Given the description of an element on the screen output the (x, y) to click on. 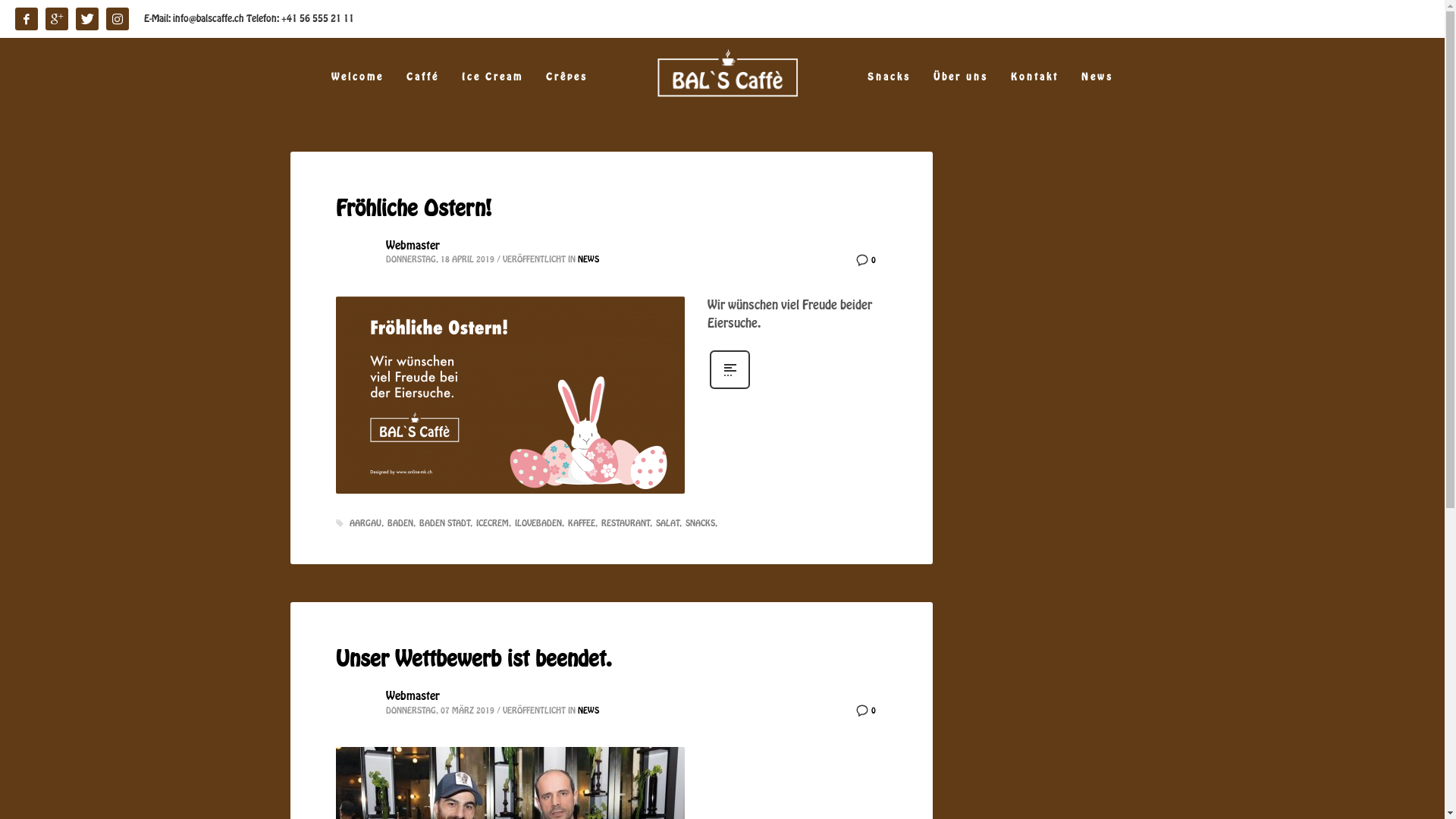
RESTAURANT Element type: text (625, 523)
Mehr erfahren Element type: hover (728, 387)
facebook Element type: hover (26, 18)
Snacks Element type: text (888, 76)
0 Element type: text (865, 709)
Google Element type: hover (56, 18)
News Element type: text (1097, 76)
SALAT Element type: text (667, 523)
Welcome Element type: text (357, 76)
Ice Cream Element type: text (492, 76)
Twitter Element type: hover (86, 18)
Webmaster Element type: text (412, 695)
Bals Caffe Element type: hover (509, 394)
SNACKS Element type: text (701, 523)
ILOVEBADEN Element type: text (538, 523)
ICECREM Element type: text (493, 523)
NEWS Element type: text (588, 710)
NEWS Element type: text (588, 259)
AARGAU Element type: text (365, 523)
Webmaster Element type: text (412, 245)
instagram Element type: hover (117, 18)
BADEN Element type: text (400, 523)
KAFFEE Element type: text (581, 523)
Kontakt Element type: text (1034, 76)
Unser Wettbewerb ist beendet. Element type: text (473, 659)
BADEN STADT Element type: text (444, 523)
0 Element type: text (865, 259)
